Given the description of an element on the screen output the (x, y) to click on. 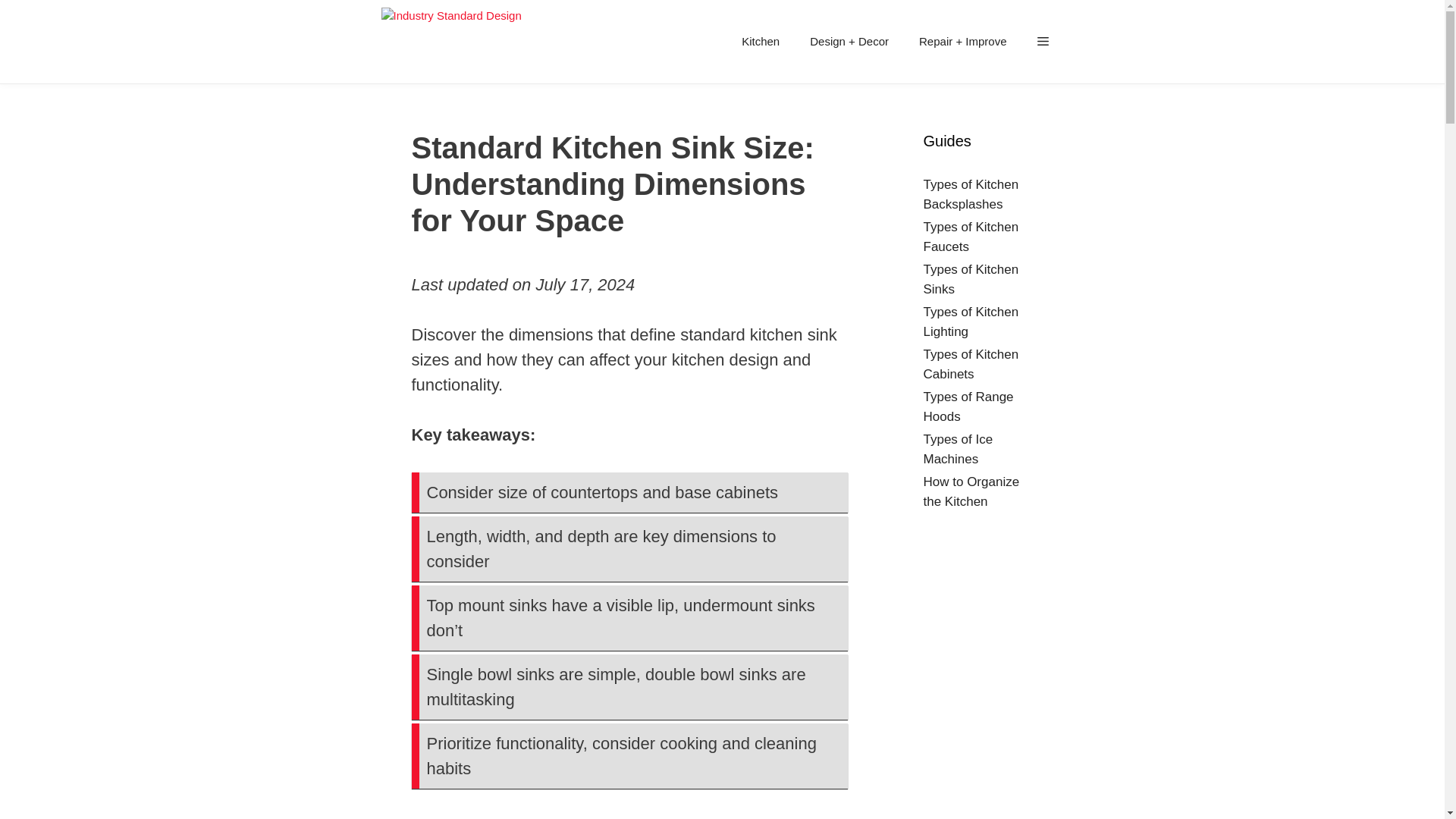
Types of Kitchen Faucets (971, 236)
Kitchen (760, 41)
Types of Kitchen Lighting (971, 321)
Types of Ice Machines (957, 449)
Types of Kitchen Backsplashes (971, 194)
Industry Standard Design (450, 41)
How to Organize the Kitchen (971, 491)
Types of Range Hoods (968, 406)
Types of Kitchen Sinks (971, 279)
Types of Kitchen Cabinets (971, 364)
